Given the description of an element on the screen output the (x, y) to click on. 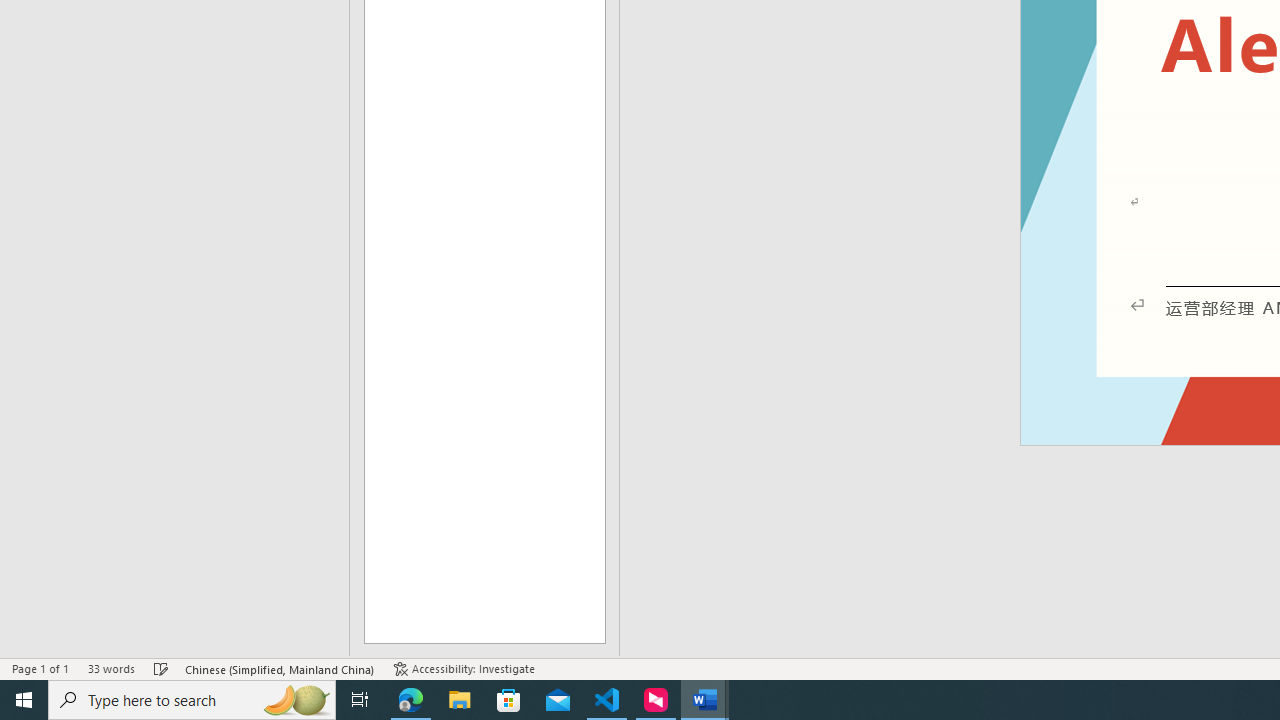
Microsoft Edge - 1 running window (411, 699)
